Given the description of an element on the screen output the (x, y) to click on. 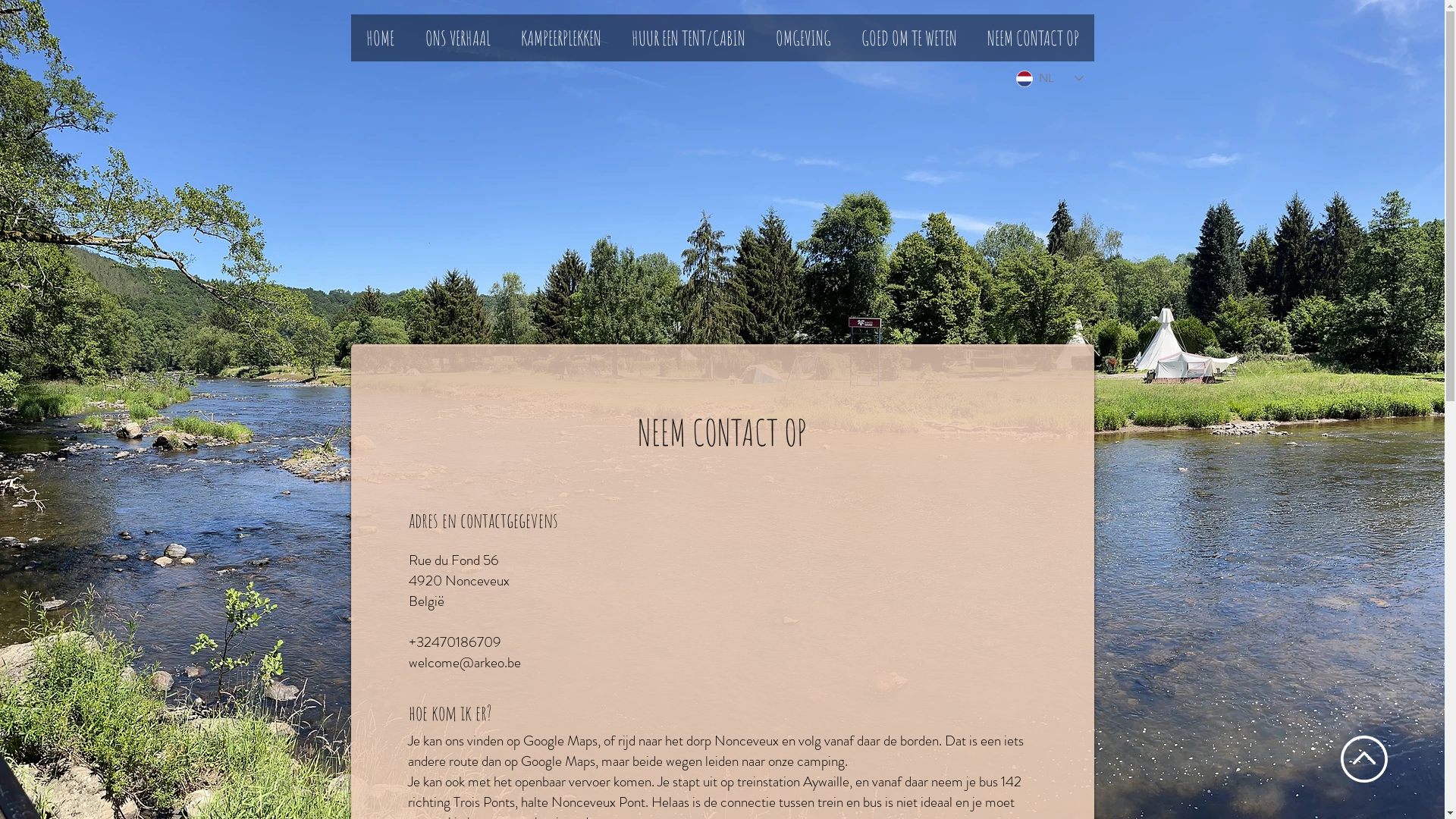
KAMPEERPLEKKEN Element type: text (560, 37)
Google Maps Element type: hover (856, 608)
HUUR EEN TENT/CABIN Element type: text (687, 37)
welcome@arkeo.be Element type: text (463, 662)
NEEM CONTACT OP Element type: text (1033, 37)
ONS VERHAAL Element type: text (457, 37)
OMGEVING Element type: text (802, 37)
HOME Element type: text (379, 37)
GOED OM TE WETEN Element type: text (909, 37)
